Given the description of an element on the screen output the (x, y) to click on. 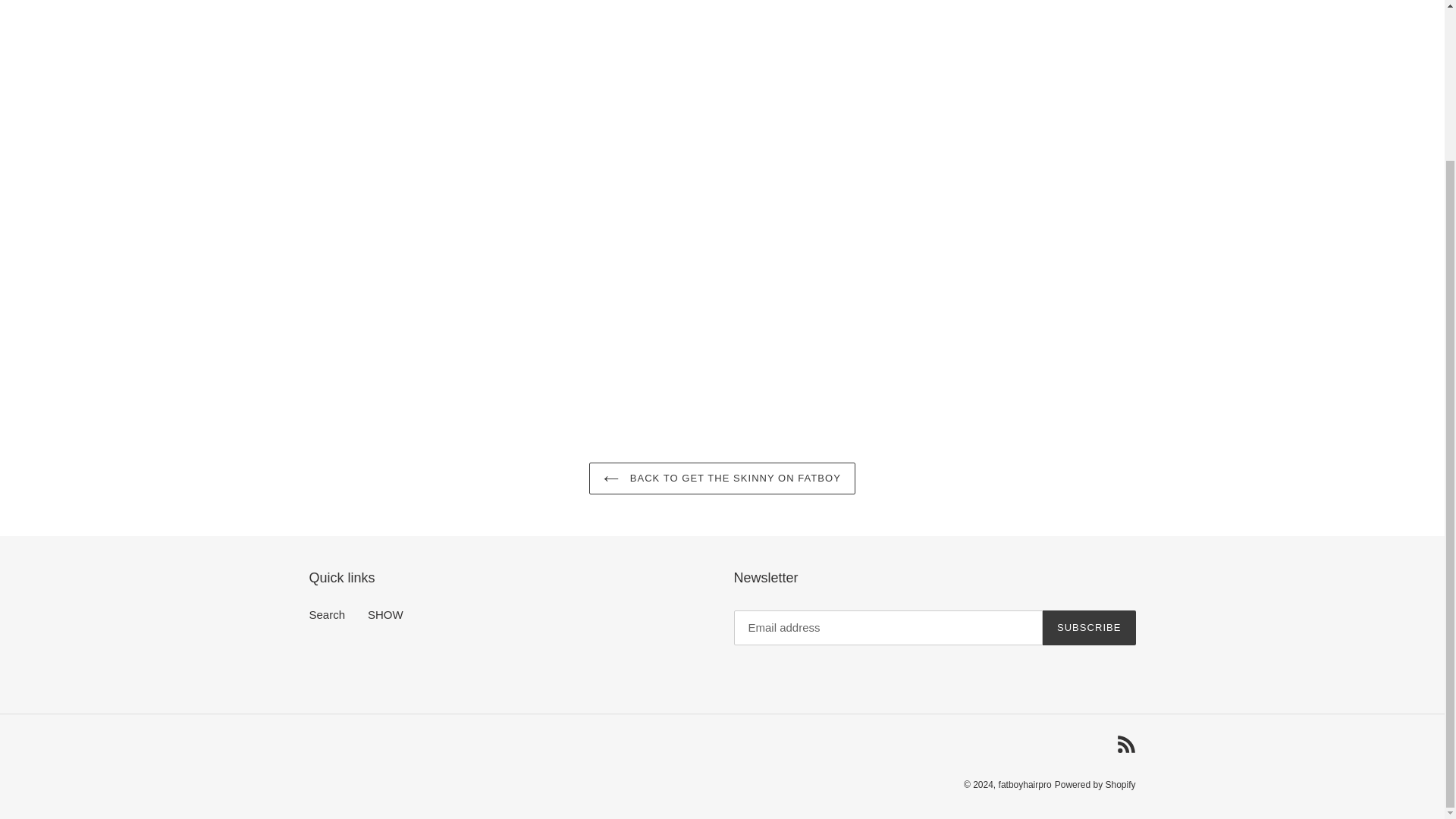
BACK TO GET THE SKINNY ON FATBOY (722, 478)
SHOW (385, 614)
SUBSCRIBE (1088, 627)
Search (327, 614)
fatboyhairpro (1024, 784)
RSS (1125, 743)
Powered by Shopify (1094, 784)
